Given the description of an element on the screen output the (x, y) to click on. 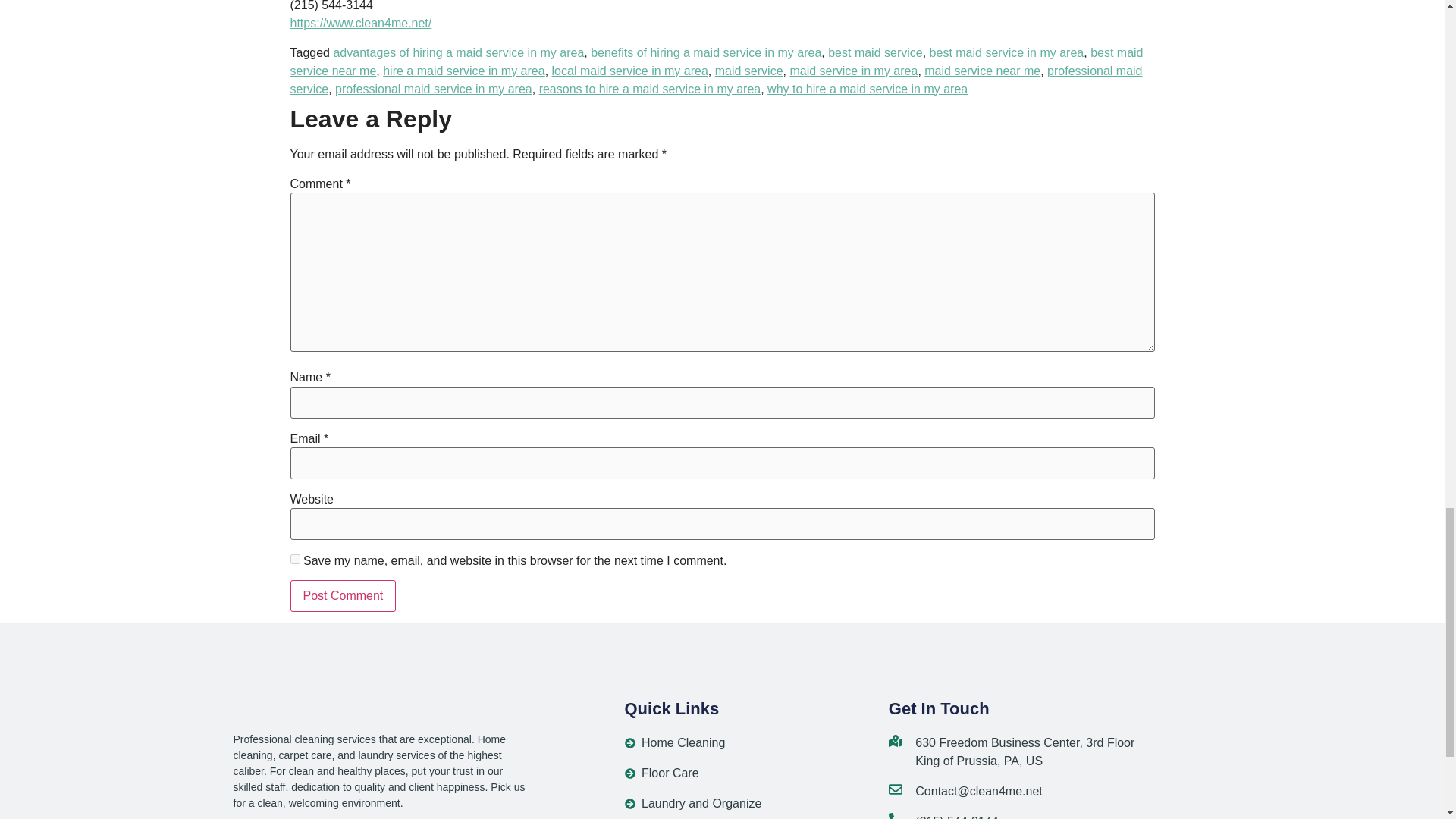
best maid service (875, 51)
local maid service in my area (629, 70)
Post Comment (342, 595)
yes (294, 559)
advantages of hiring a maid service in my area (458, 51)
best maid service near me (715, 60)
hire a maid service in my area (463, 70)
best maid service in my area (1007, 51)
benefits of hiring a maid service in my area (706, 51)
